Given the description of an element on the screen output the (x, y) to click on. 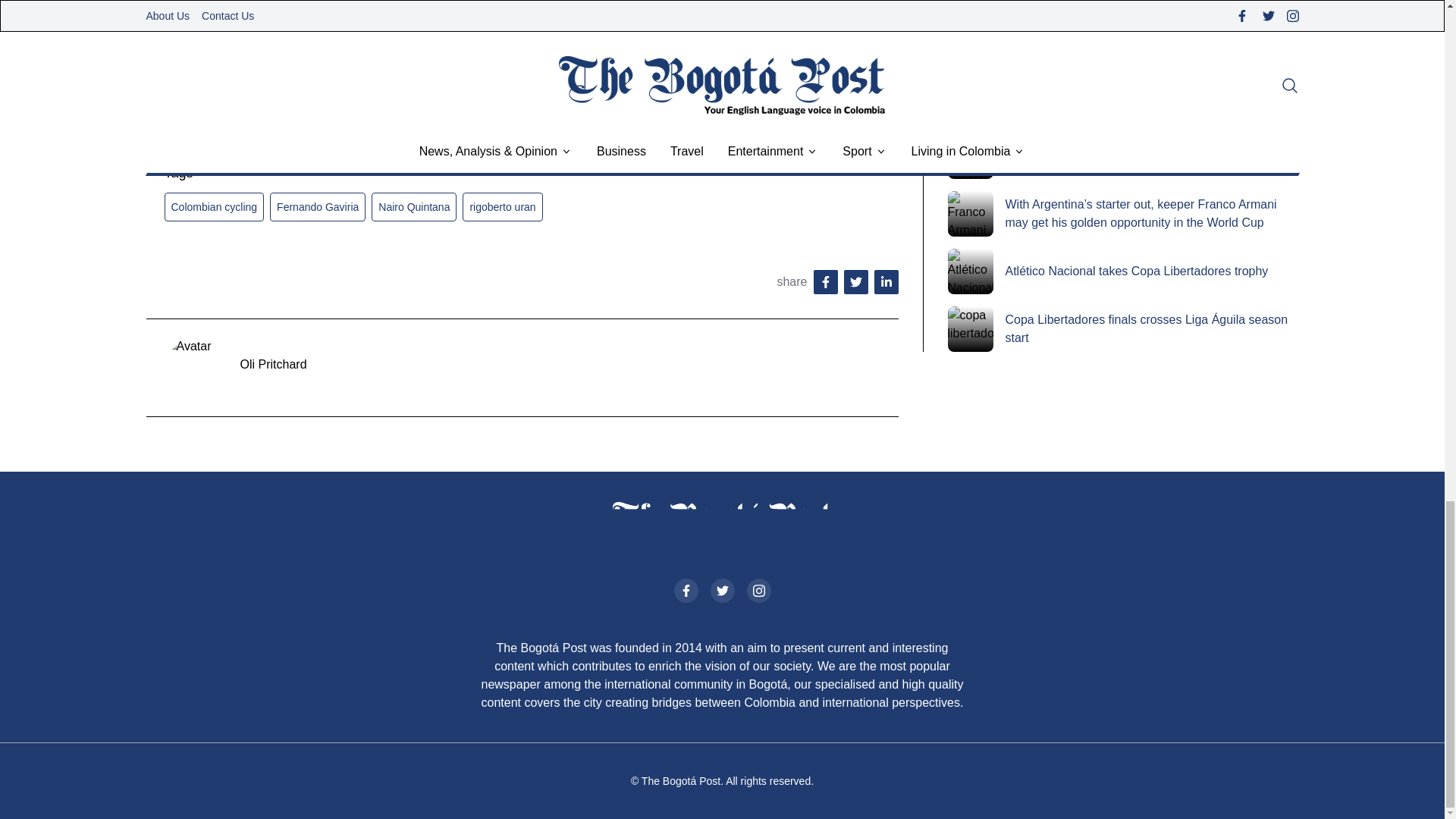
Nairo Quintana (414, 206)
rigoberto uran (502, 206)
Colombian cycling (213, 206)
Fernando Gaviria (317, 206)
